Given the description of an element on the screen output the (x, y) to click on. 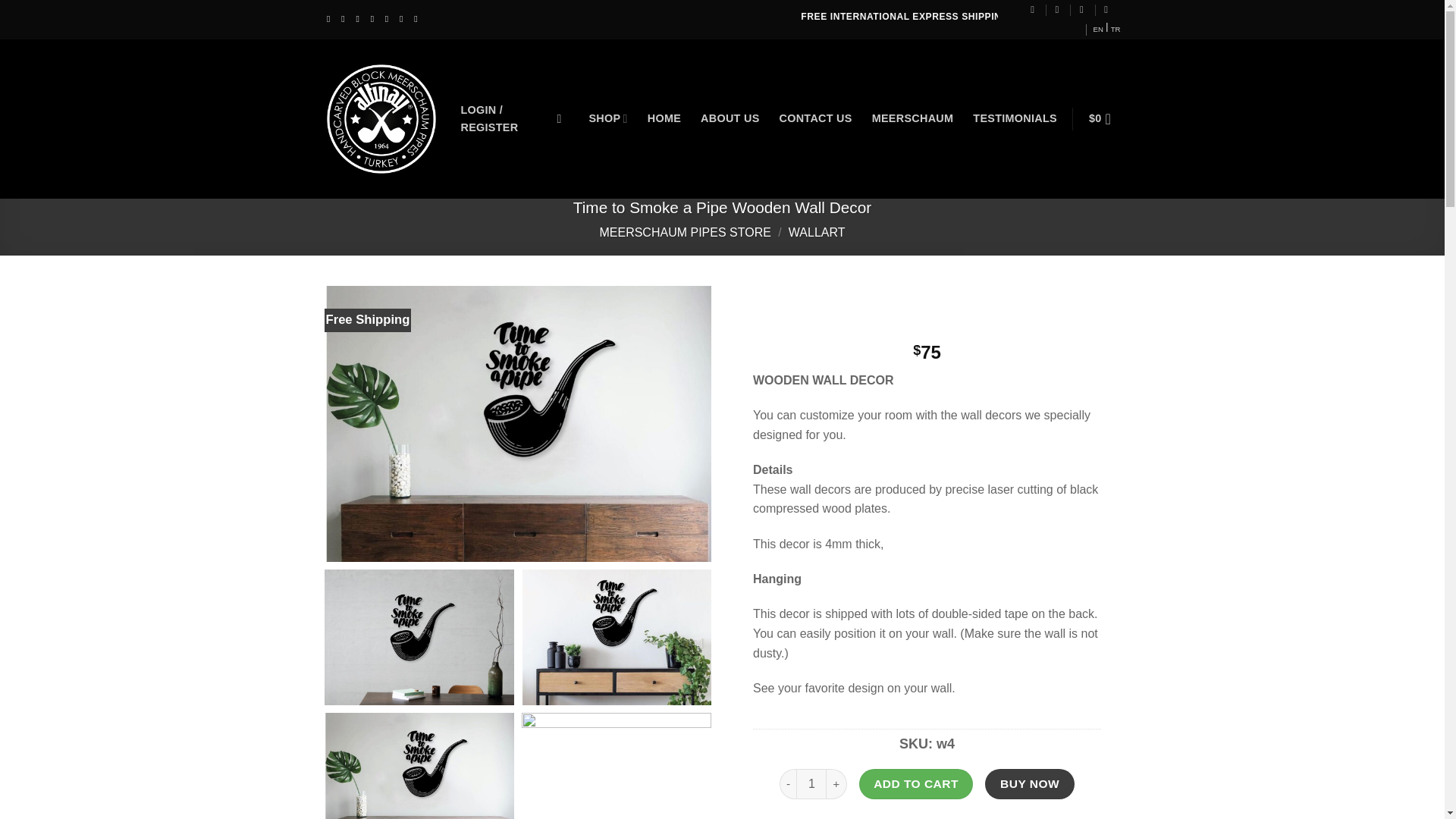
- (787, 784)
Follow on VKontakte (418, 18)
Follow on X (360, 18)
SHOP (607, 118)
1 (811, 784)
Follow on LinkedIn (389, 18)
Follow on Facebook (331, 18)
TR (1115, 29)
EN (1098, 29)
ALTINAY Meerschaum Pipes - Premium Block Meerschaum Pipes (381, 119)
Login (509, 119)
Follow on YouTube (403, 18)
Follow on Twitter (375, 18)
Follow on Instagram (345, 18)
